Given the description of an element on the screen output the (x, y) to click on. 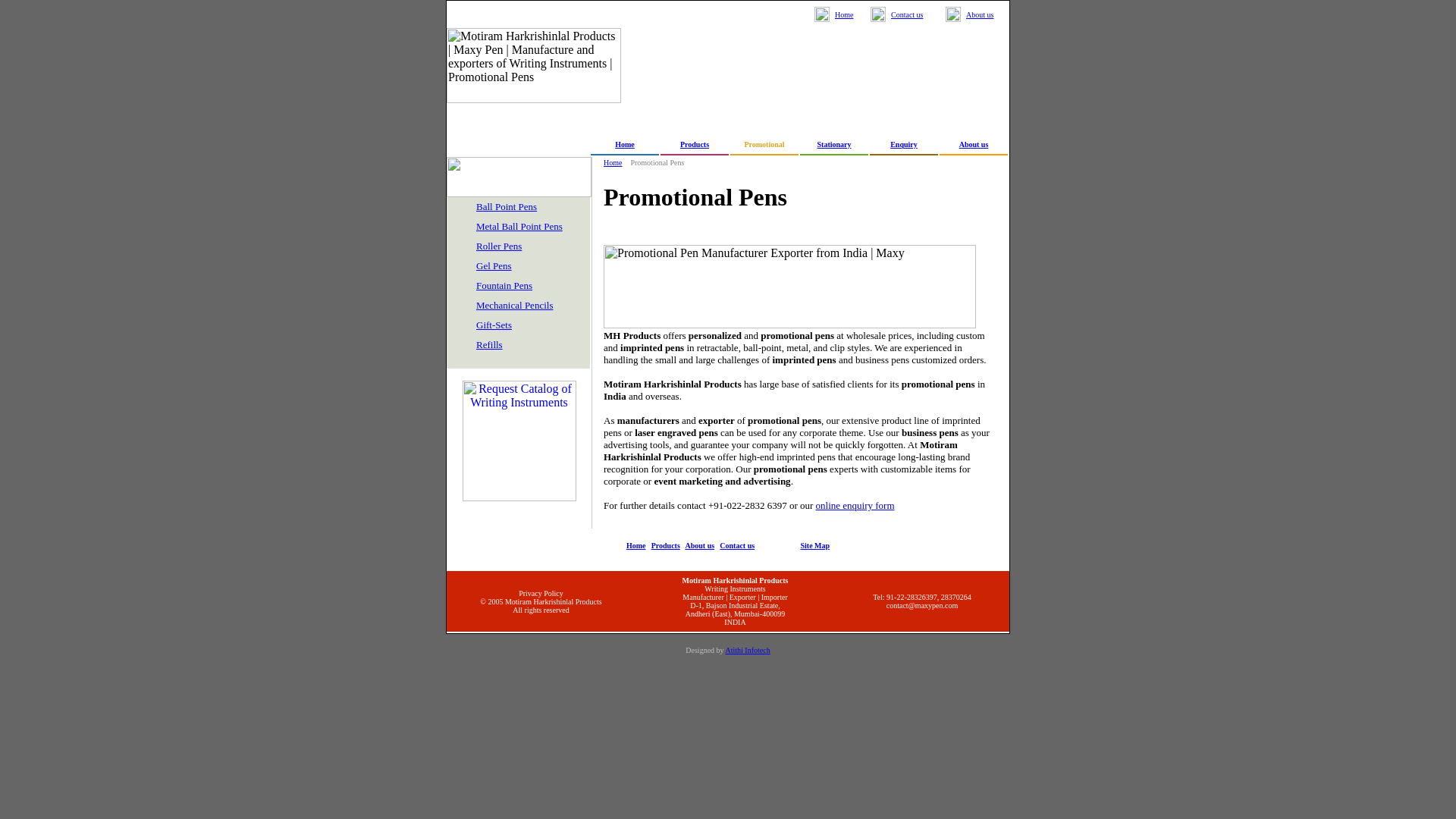
Contact us (907, 14)
Gift-Sets (494, 324)
online enquiry form (855, 505)
Gel Pens (494, 265)
Products (664, 545)
Roller Pens (498, 245)
Stationary (833, 143)
Ball Point Pens (506, 206)
Enquiry (903, 143)
Metal Ball Point Pens (519, 225)
Home (636, 545)
Fountain Pens (504, 285)
Home (624, 143)
About us (973, 143)
About us (979, 14)
